Given the description of an element on the screen output the (x, y) to click on. 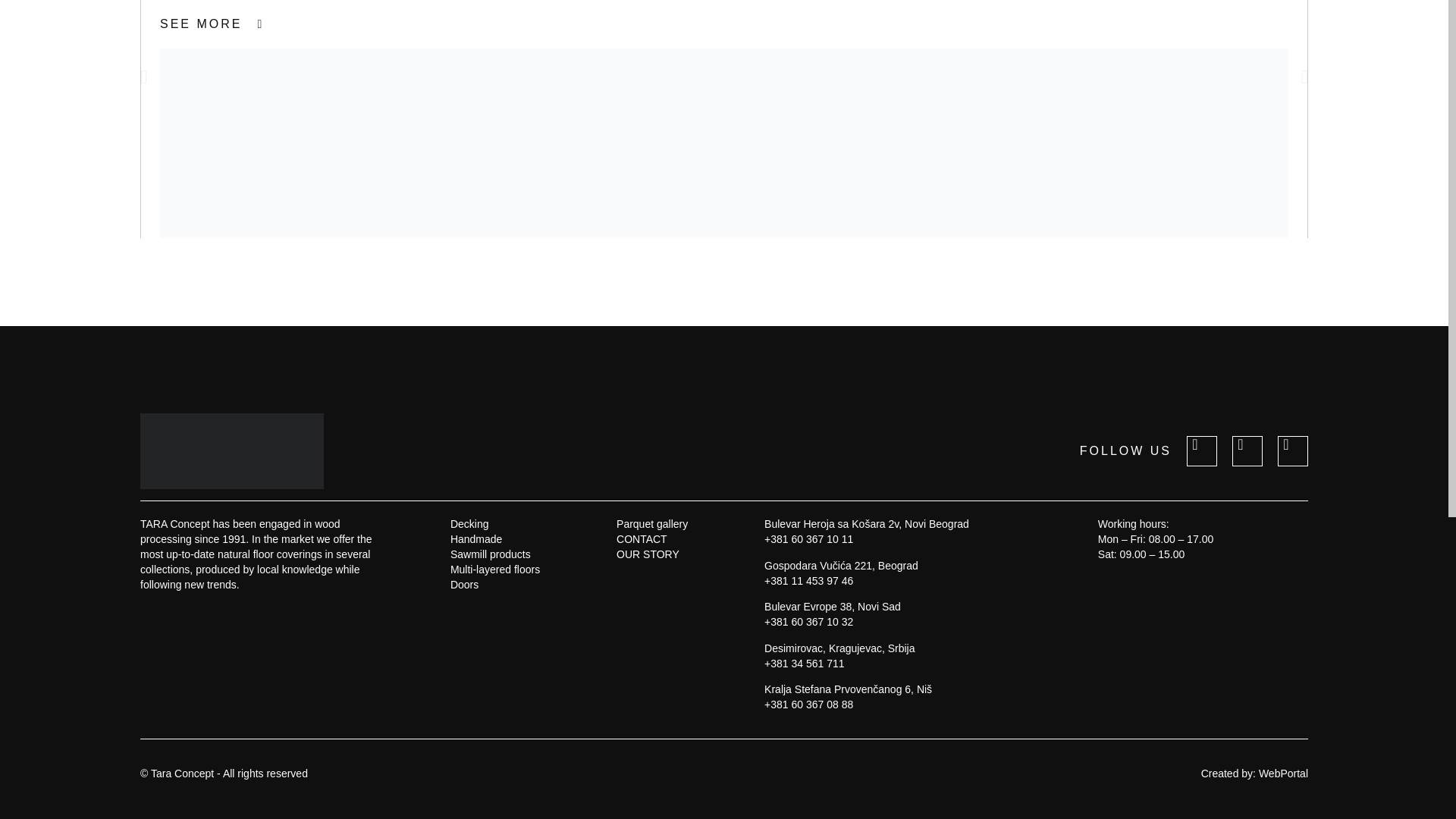
Handmade (494, 539)
Parquet gallery (651, 523)
CONTACT (651, 539)
SEE MORE (211, 24)
Doors (494, 584)
OUR STORY (651, 554)
Decking (494, 523)
Sawmill products (494, 554)
Multi-layered floors (494, 569)
